Given the description of an element on the screen output the (x, y) to click on. 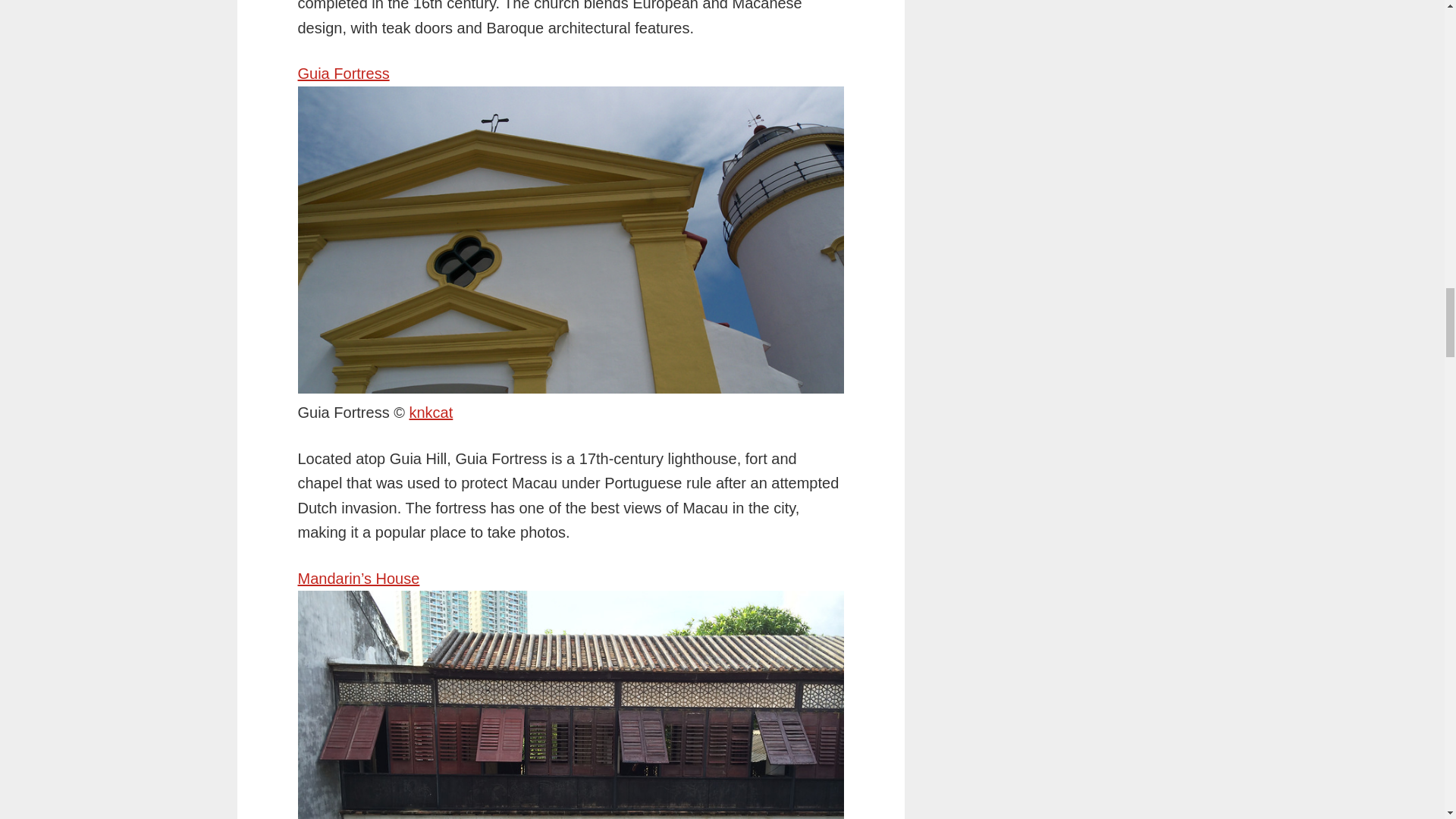
knkcat (430, 412)
Guia Fortress (342, 73)
Guia Fortress (430, 412)
